Given the description of an element on the screen output the (x, y) to click on. 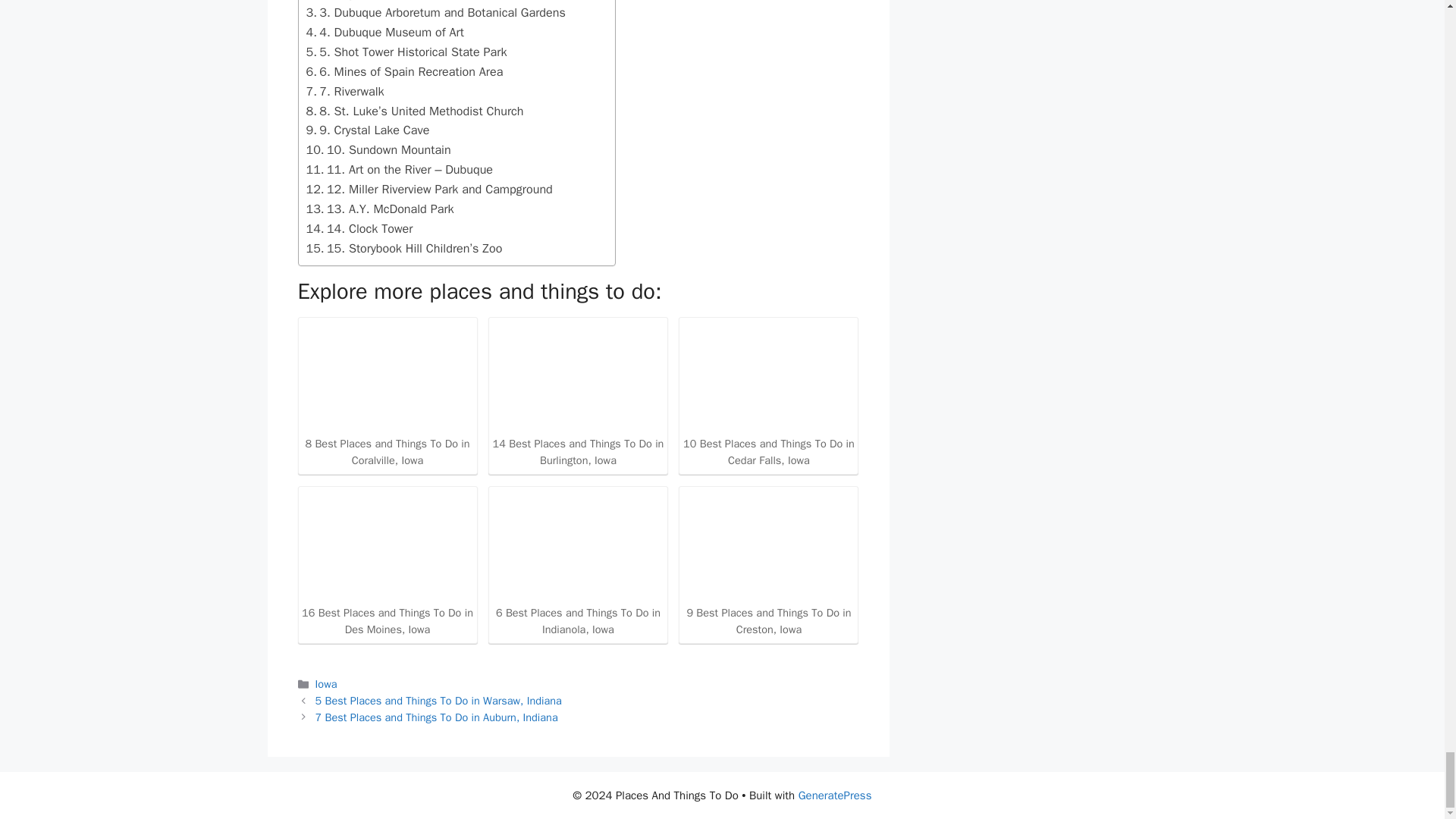
2. Eagle Point Park (363, 2)
2. Eagle Point Park (363, 2)
5. Shot Tower Historical State Park (405, 52)
7. Riverwalk (344, 91)
12. Miller Riverview Park and Campground (429, 189)
5. Shot Tower Historical State Park (405, 52)
6. Mines of Spain Recreation Area (404, 71)
10. Sundown Mountain (378, 149)
3. Dubuque Arboretum and Botanical Gardens (435, 12)
9. Crystal Lake Cave (367, 130)
10. Sundown Mountain (378, 149)
13. A.Y. McDonald Park (379, 209)
14. Clock Tower (359, 229)
6. Mines of Spain Recreation Area (404, 71)
12. Miller Riverview Park and Campground (429, 189)
